Given the description of an element on the screen output the (x, y) to click on. 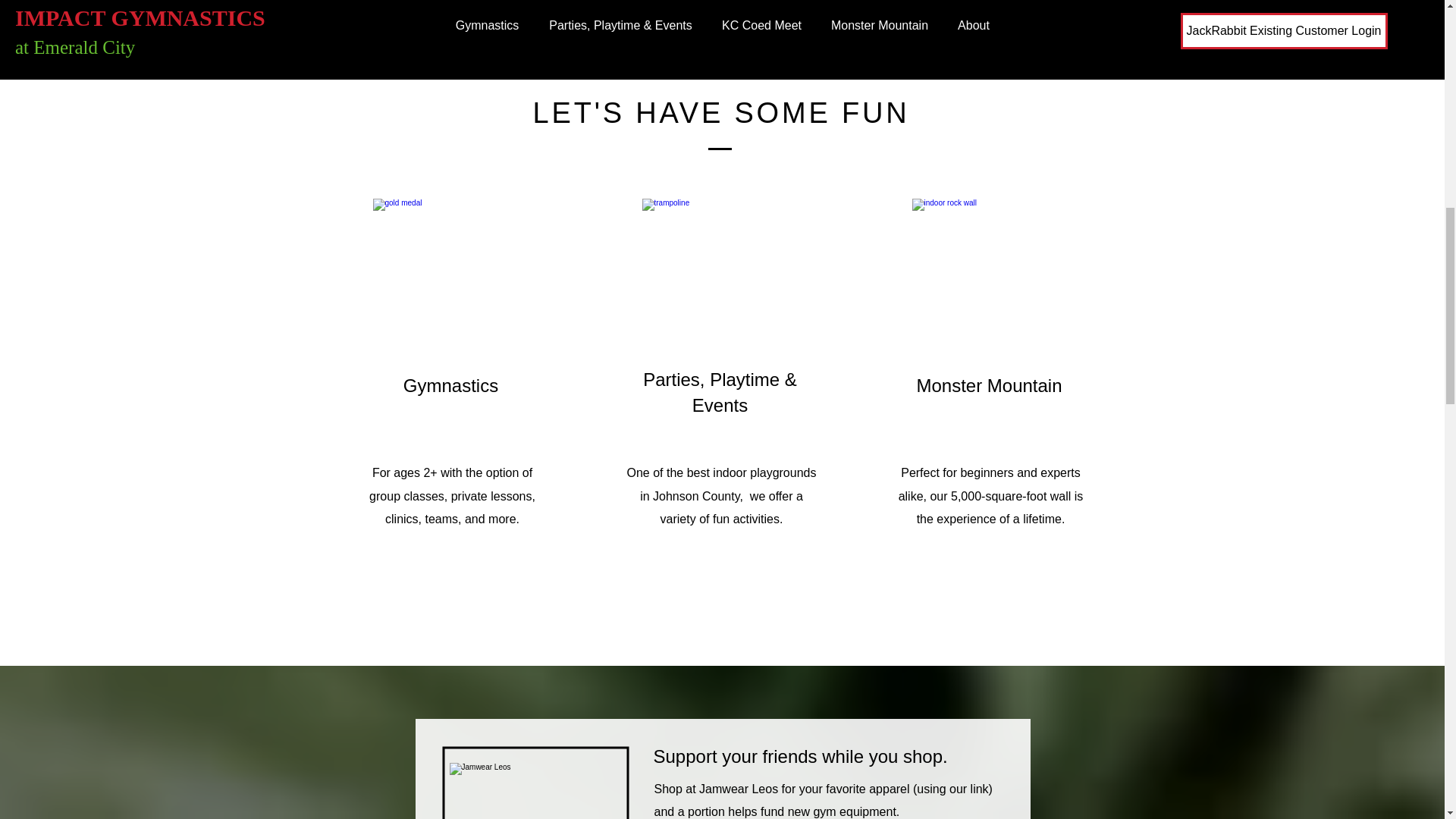
Check It Out (542, 2)
Get Climbing (1262, 2)
